Given the description of an element on the screen output the (x, y) to click on. 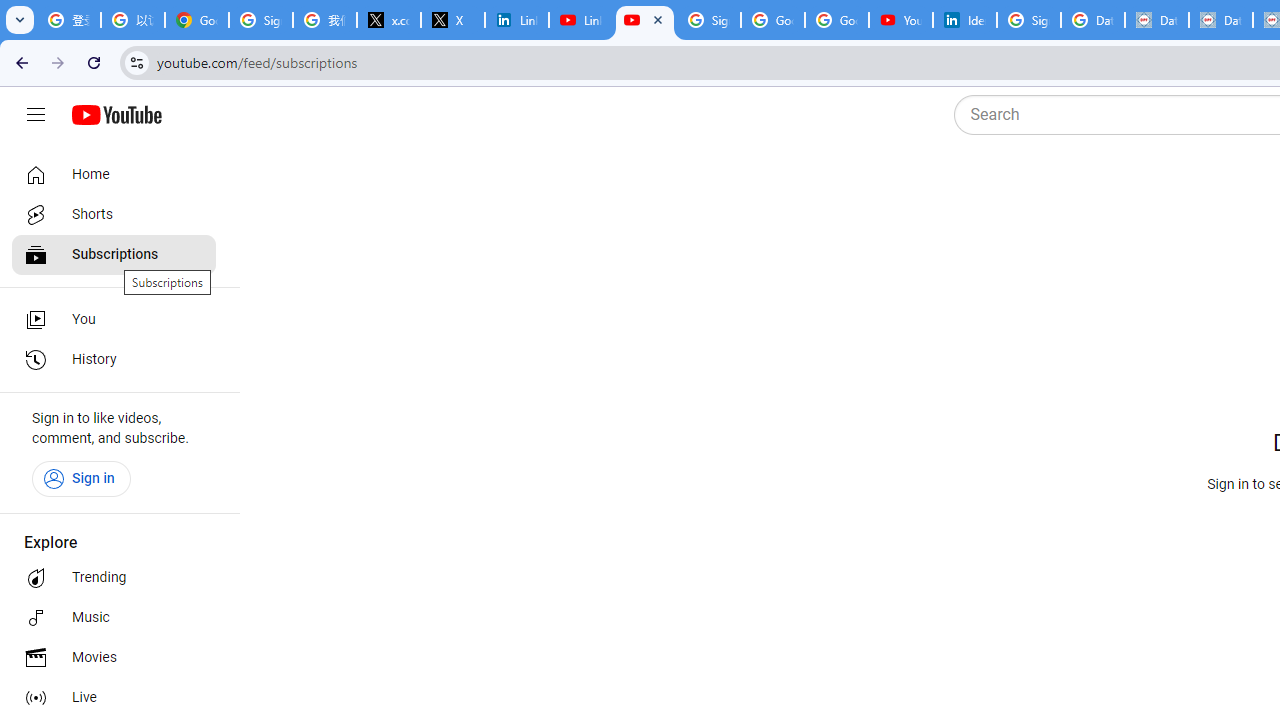
X (453, 20)
Movies (113, 657)
YouTube Home (116, 115)
Sign in - Google Accounts (709, 20)
Trending (113, 578)
LinkedIn Privacy Policy (517, 20)
Shorts (113, 214)
